Given the description of an element on the screen output the (x, y) to click on. 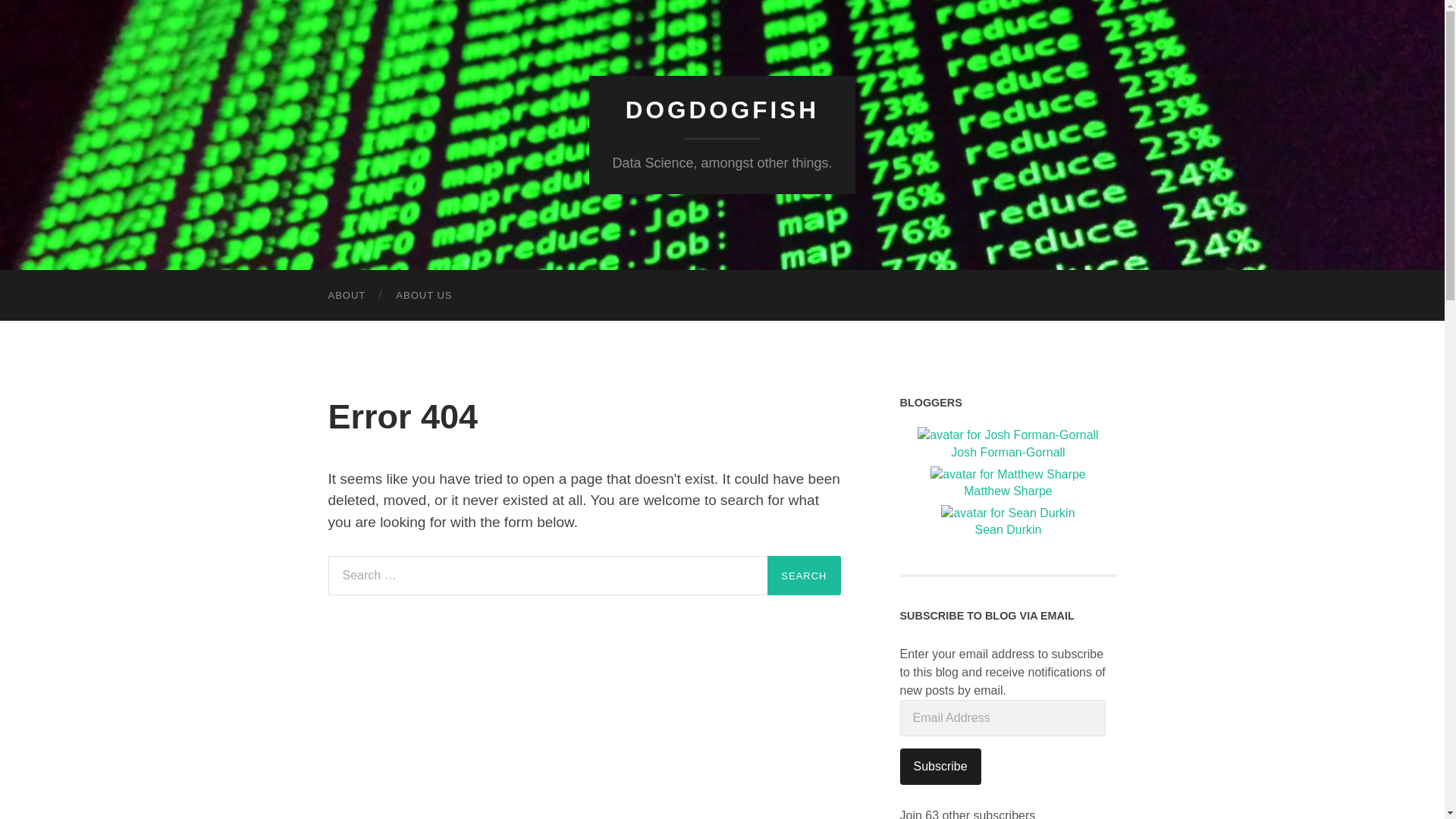
ABOUT (346, 295)
Josh Forman-Gornall (1008, 444)
Matthew Sharpe (1008, 483)
DOGDOGFISH (722, 109)
Josh Forman-Gornall (1008, 444)
Sean Durkin (1008, 522)
Search (803, 575)
Subscribe (939, 766)
Search (803, 575)
Matthew Sharpe (1008, 483)
